Given the description of an element on the screen output the (x, y) to click on. 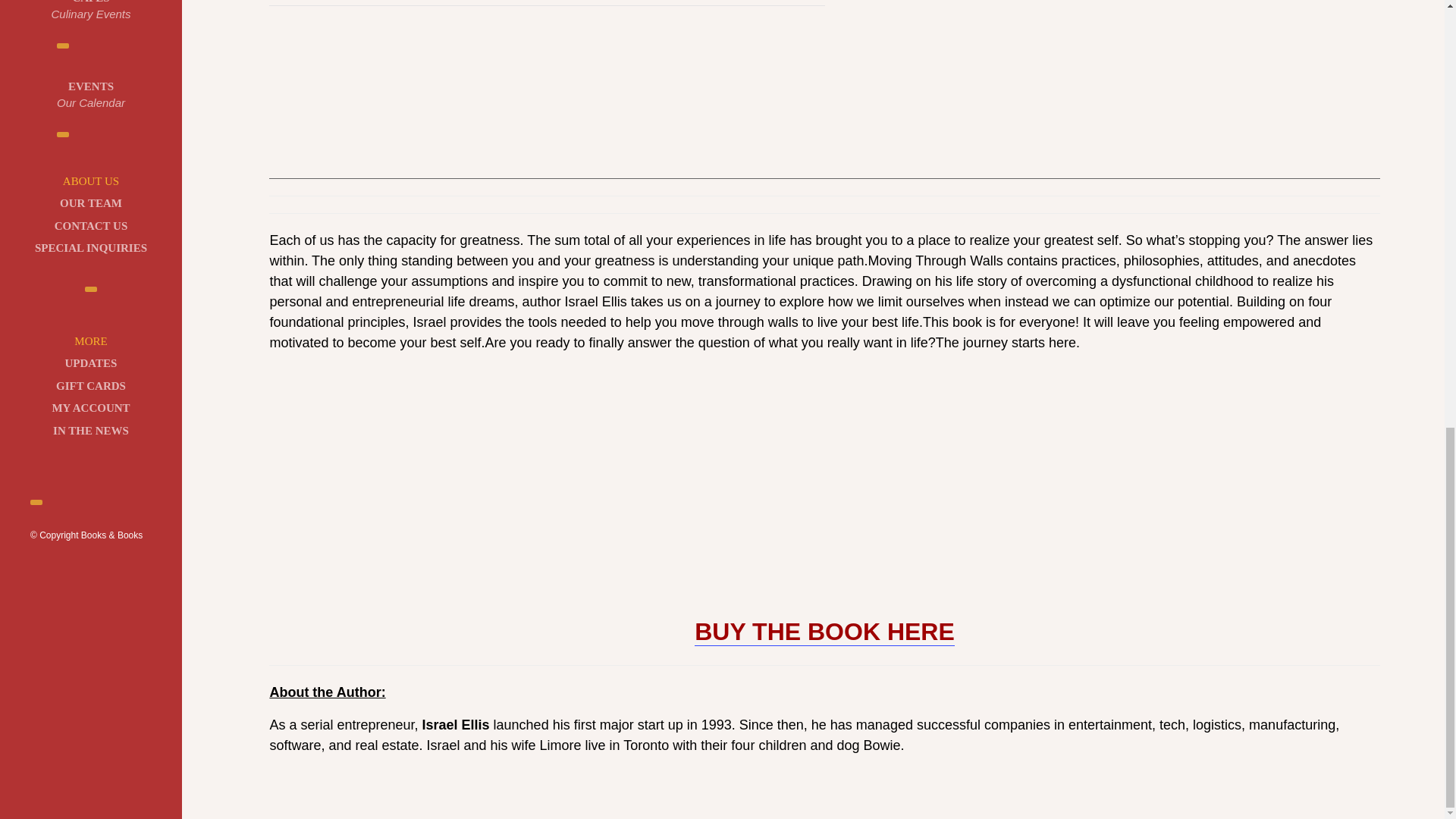
IN THE NEWS (89, 430)
CONTACT US (90, 226)
SPECIAL INQUIRIES (90, 248)
GIFT CARDS (89, 385)
OUR TEAM (90, 95)
MY ACCOUNT (90, 203)
UPDATES (89, 408)
